Given the description of an element on the screen output the (x, y) to click on. 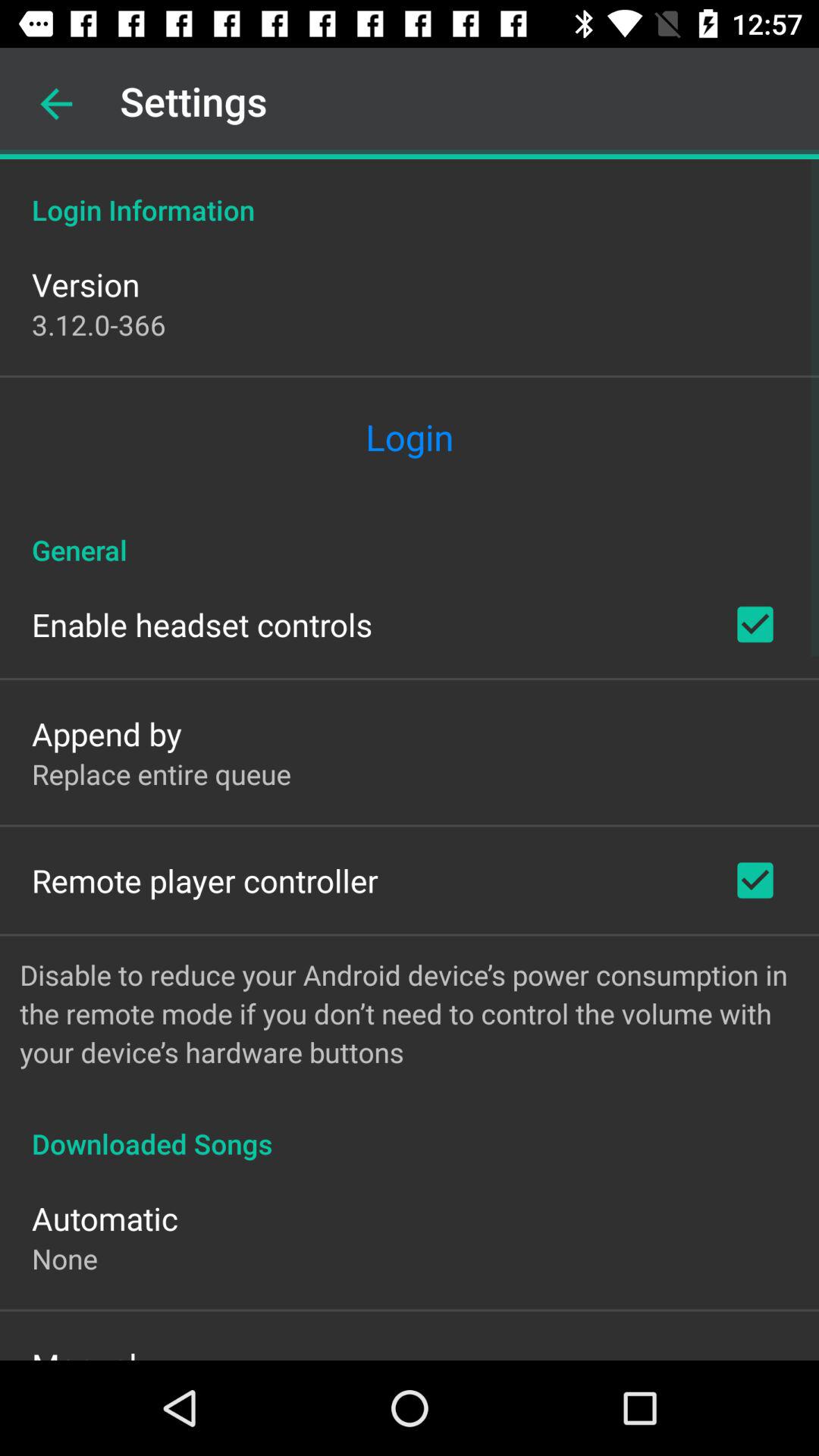
turn on icon above the login icon (98, 324)
